Given the description of an element on the screen output the (x, y) to click on. 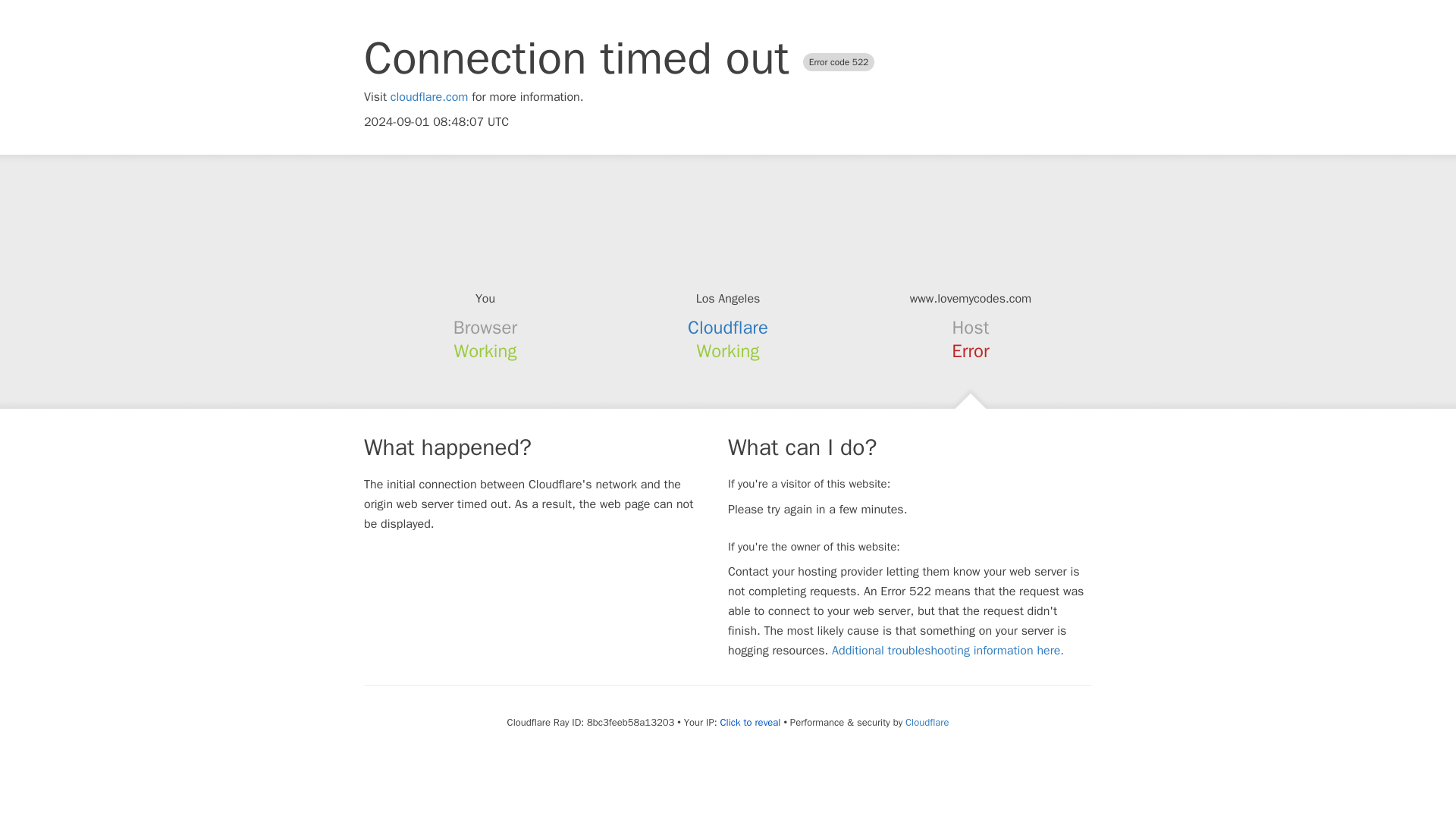
Additional troubleshooting information here. (947, 650)
cloudflare.com (429, 96)
Click to reveal (750, 722)
Cloudflare (927, 721)
Cloudflare (727, 327)
